Given the description of an element on the screen output the (x, y) to click on. 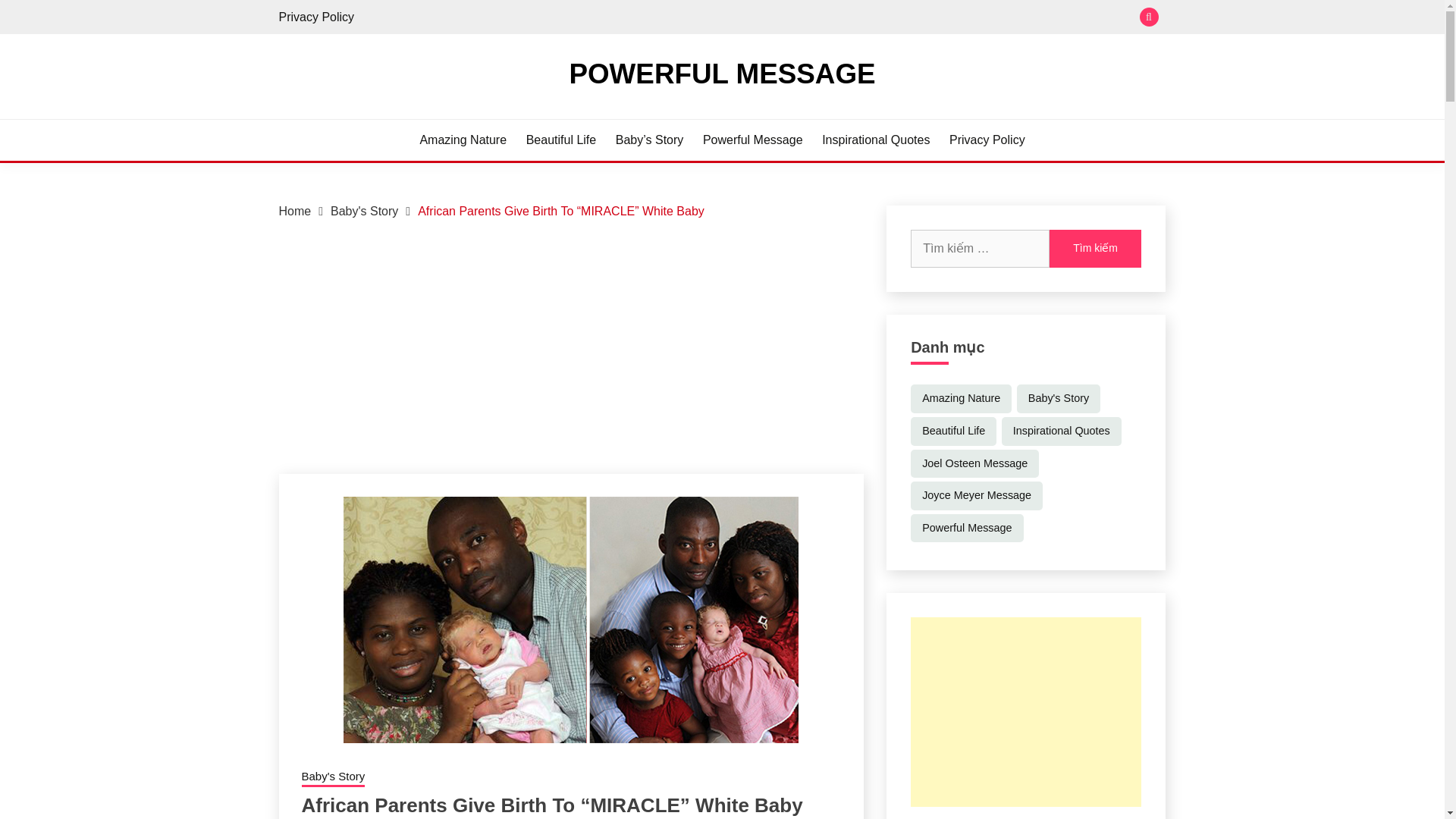
Advertisement (1026, 711)
Amazing Nature (462, 140)
Beautiful Life (953, 430)
Beautiful Life (560, 140)
POWERFUL MESSAGE (722, 73)
Baby's Story (333, 777)
Privacy Policy (987, 140)
Amazing Nature (961, 398)
Privacy Policy (317, 16)
Inspirational Quotes (876, 140)
Baby's Story (363, 210)
Powerful Message (753, 140)
Inspirational Quotes (1061, 430)
Baby's Story (1058, 398)
Home (295, 210)
